Given the description of an element on the screen output the (x, y) to click on. 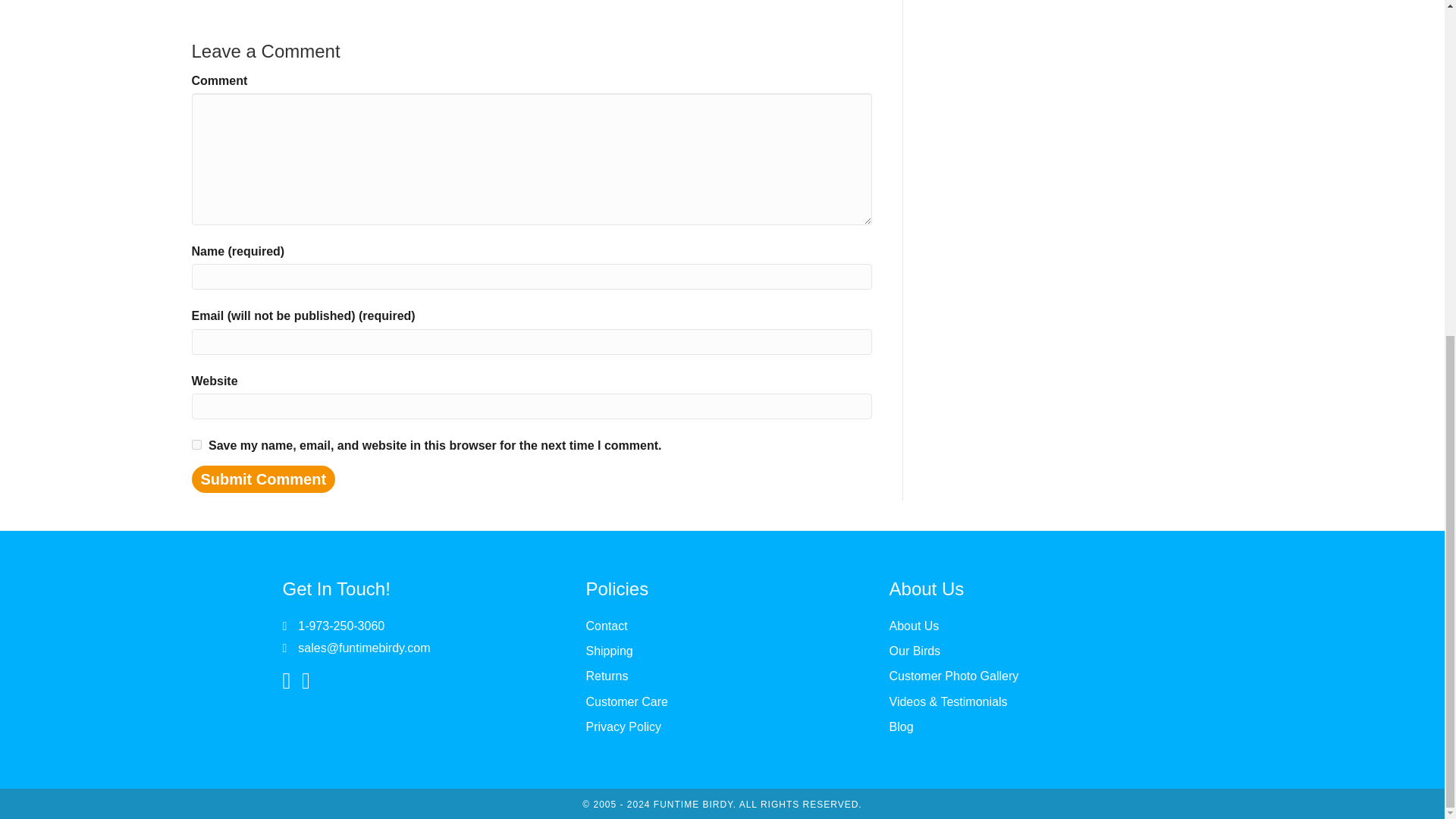
Submit Comment (262, 479)
yes (195, 444)
Submit Comment (262, 479)
